Given the description of an element on the screen output the (x, y) to click on. 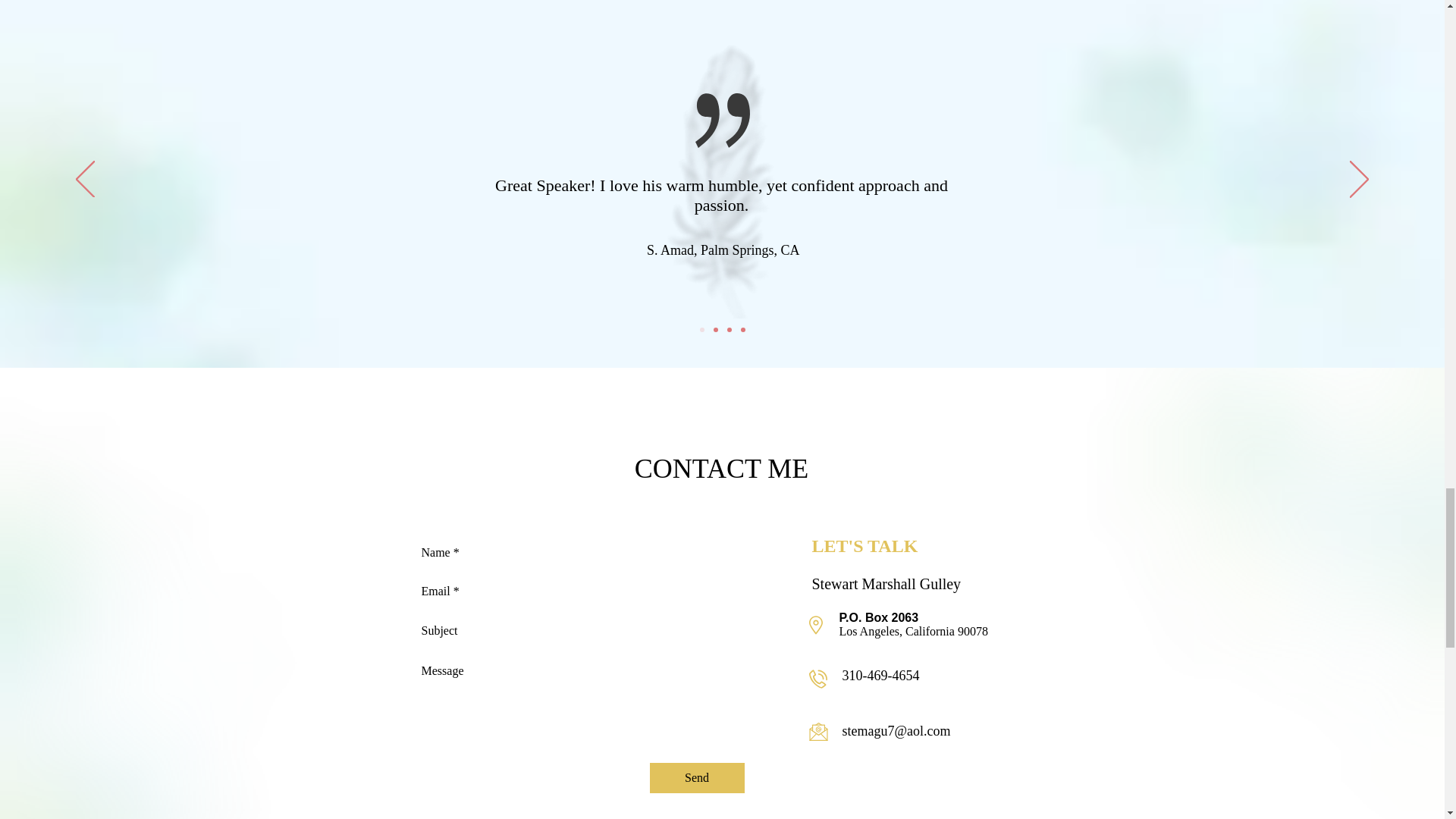
Send (696, 777)
